Given the description of an element on the screen output the (x, y) to click on. 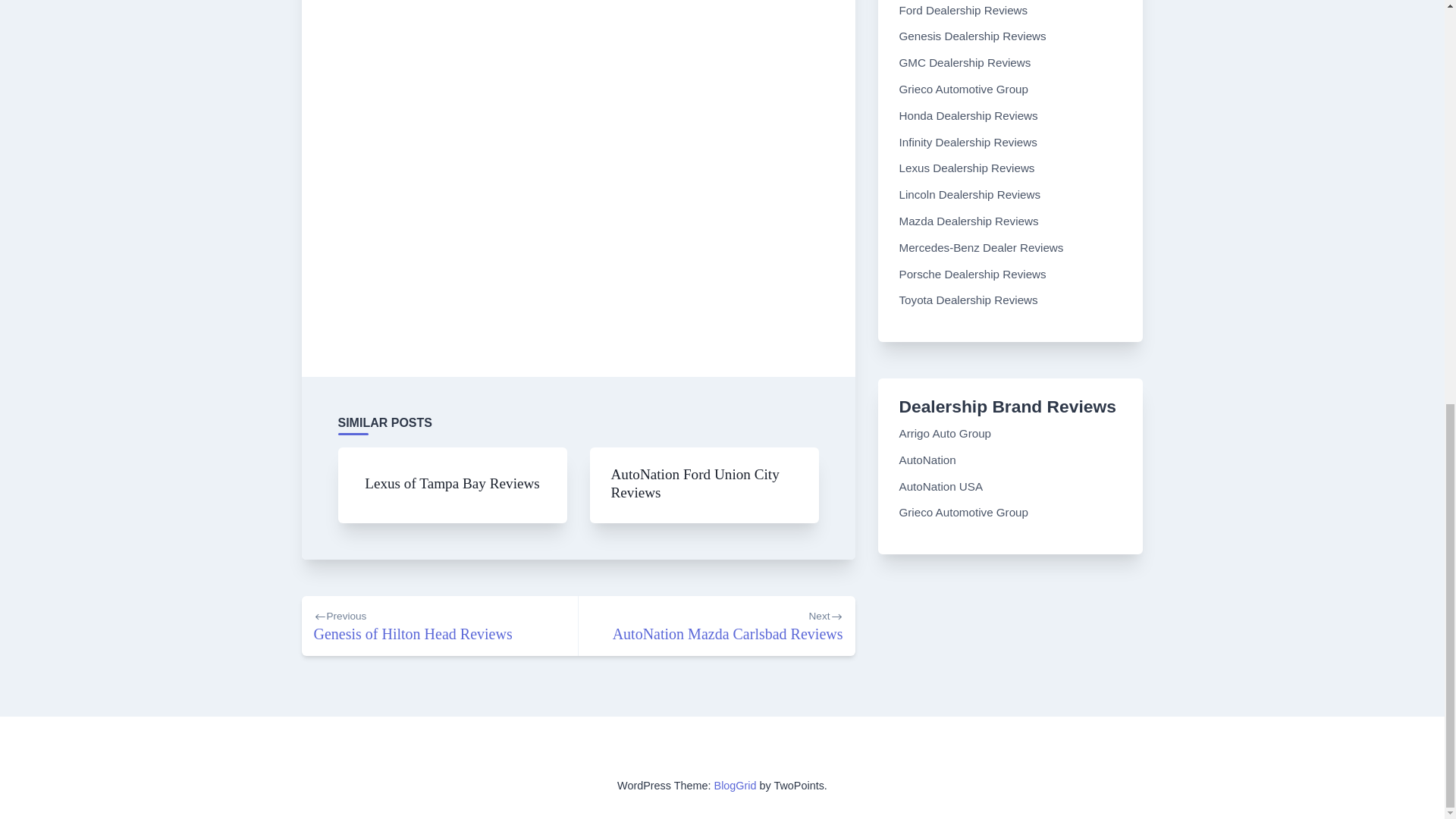
GMC Dealership Reviews (964, 62)
BlogGrid (735, 785)
Genesis Dealership Reviews (972, 35)
Grieco Automotive Group (964, 88)
Arrigo Auto Group (945, 432)
AutoNation Ford Union City Reviews (694, 483)
Go to Top (1419, 70)
Ford Dealership Reviews (963, 10)
Grieco Automotive Group (964, 512)
Mazda Dealership Reviews (969, 220)
